Given the description of an element on the screen output the (x, y) to click on. 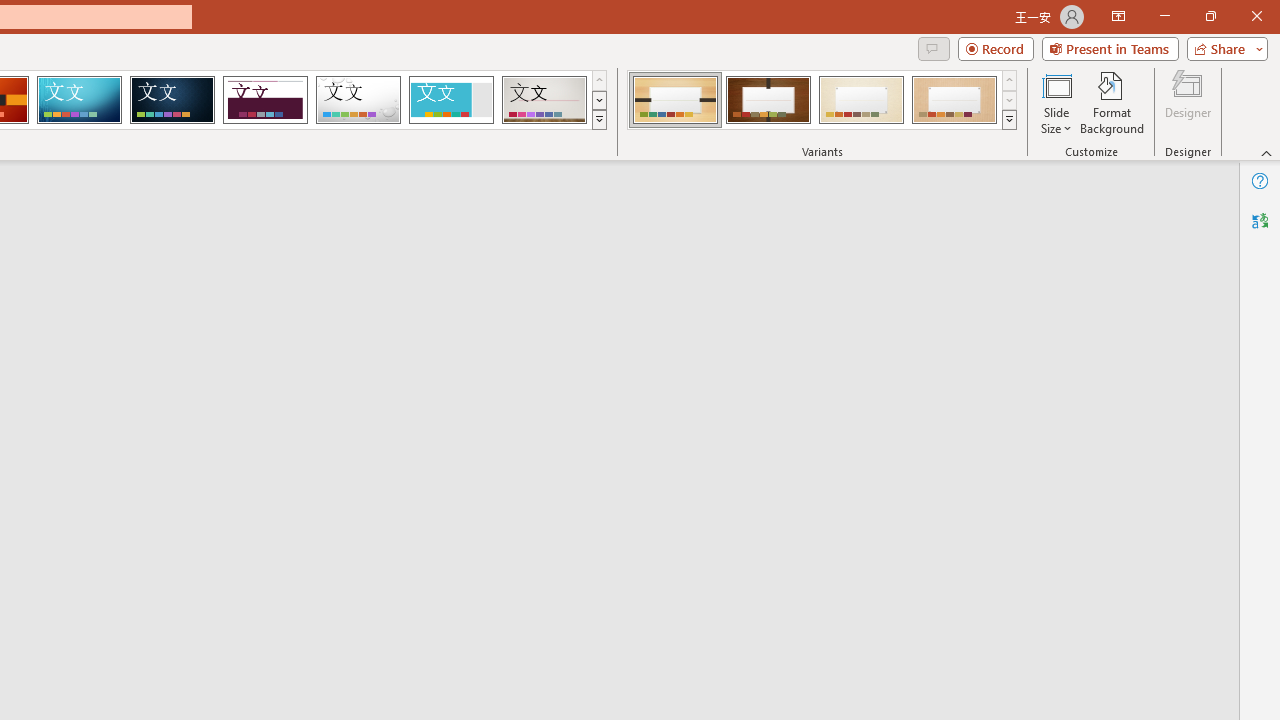
Circuit (79, 100)
Organic Variant 1 (674, 100)
Droplet (358, 100)
Dividend (265, 100)
Variants (1009, 120)
Organic Variant 3 (861, 100)
